Given the description of an element on the screen output the (x, y) to click on. 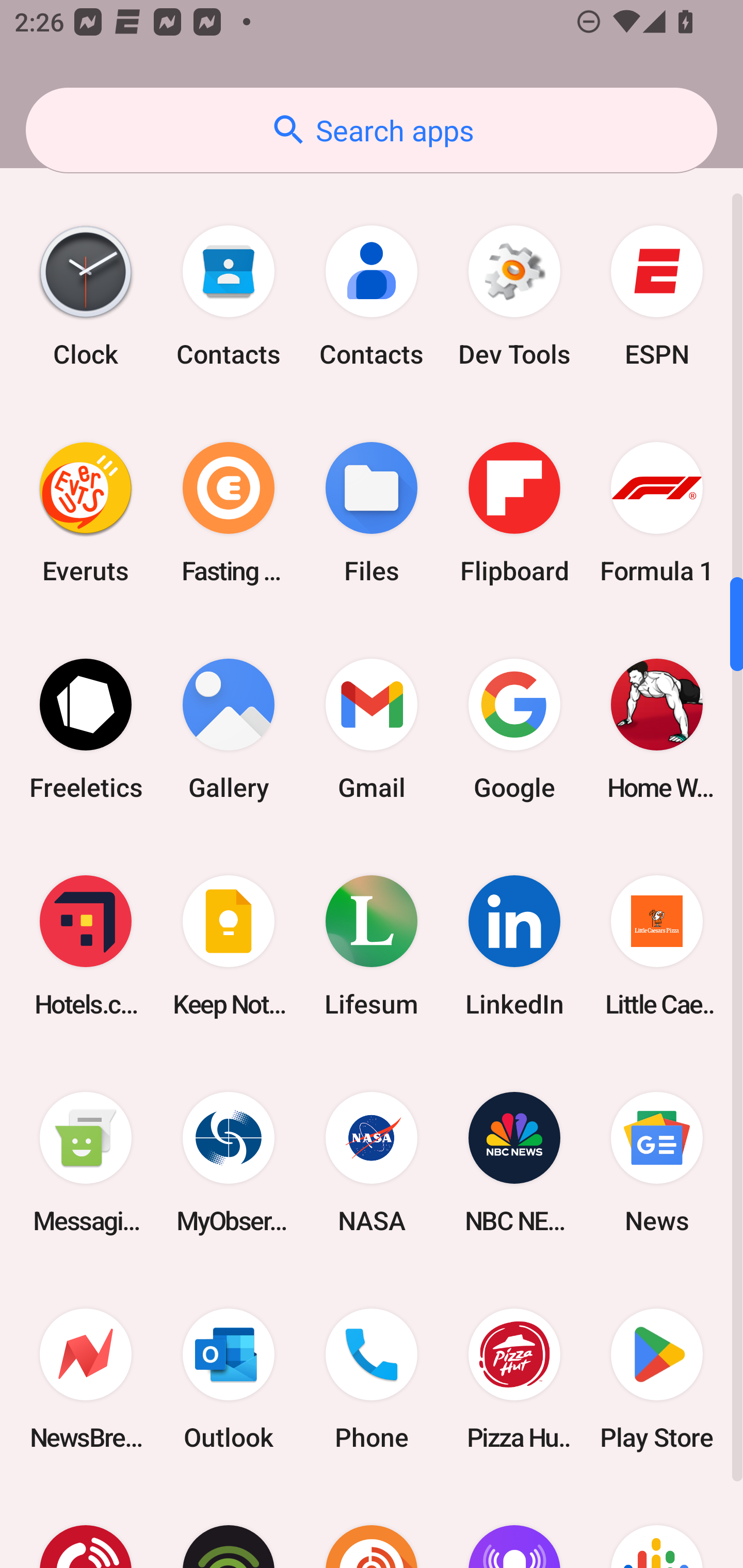
  Search apps (371, 130)
Clock (85, 296)
Contacts (228, 296)
Contacts (371, 296)
Dev Tools (514, 296)
ESPN (656, 296)
Everuts (85, 512)
Fasting Coach (228, 512)
Files (371, 512)
Flipboard (514, 512)
Formula 1 (656, 512)
Freeletics (85, 728)
Gallery (228, 728)
Gmail (371, 728)
Google (514, 728)
Home Workout (656, 728)
Hotels.com (85, 945)
Keep Notes (228, 945)
Lifesum (371, 945)
LinkedIn (514, 945)
Little Caesars Pizza (656, 945)
Messaging (85, 1162)
MyObservatory (228, 1162)
NASA (371, 1162)
NBC NEWS (514, 1162)
News (656, 1162)
NewsBreak (85, 1379)
Outlook (228, 1379)
Phone (371, 1379)
Pizza Hut HK & Macau (514, 1379)
Play Store (656, 1379)
